Given the description of an element on the screen output the (x, y) to click on. 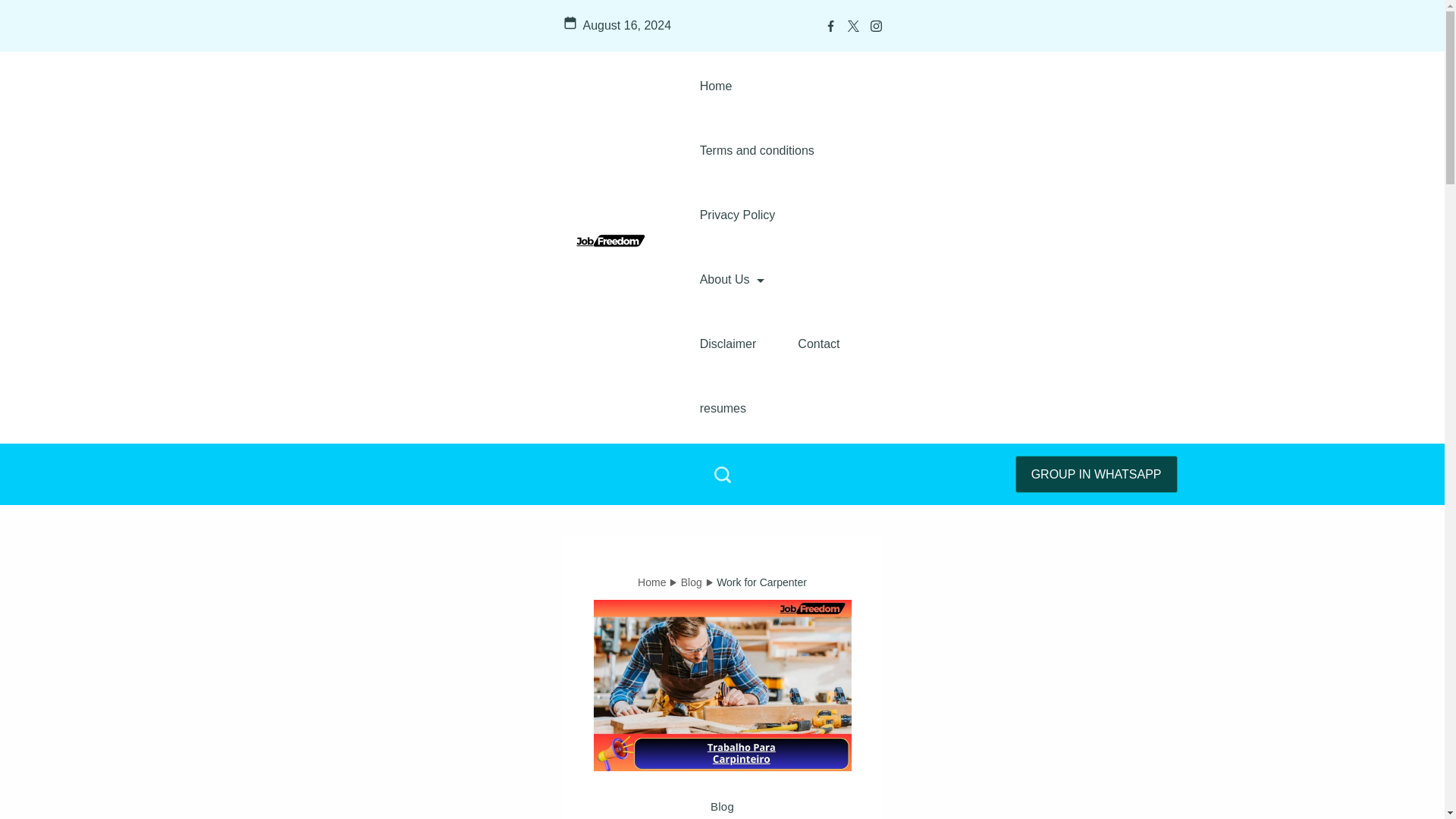
About Us (732, 279)
Home (716, 85)
Disclaimer (728, 343)
GROUP IN WHATSAPP (1095, 474)
Home (651, 582)
Work for Carpenter (761, 582)
Contact (818, 343)
Blog (691, 582)
Blog (721, 806)
Privacy Policy (737, 215)
